Given the description of an element on the screen output the (x, y) to click on. 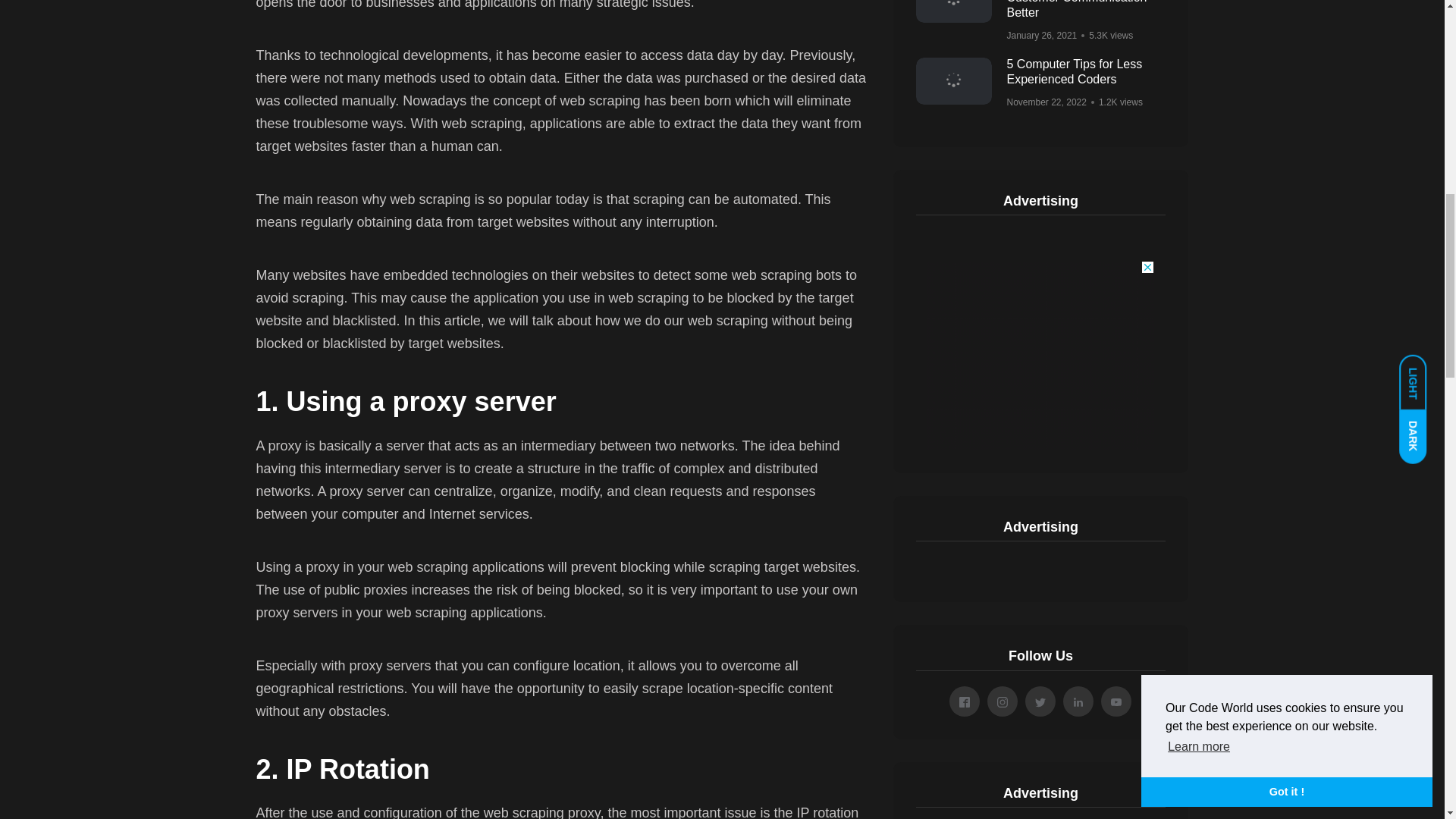
3rd party ad content (1040, 355)
